Given the description of an element on the screen output the (x, y) to click on. 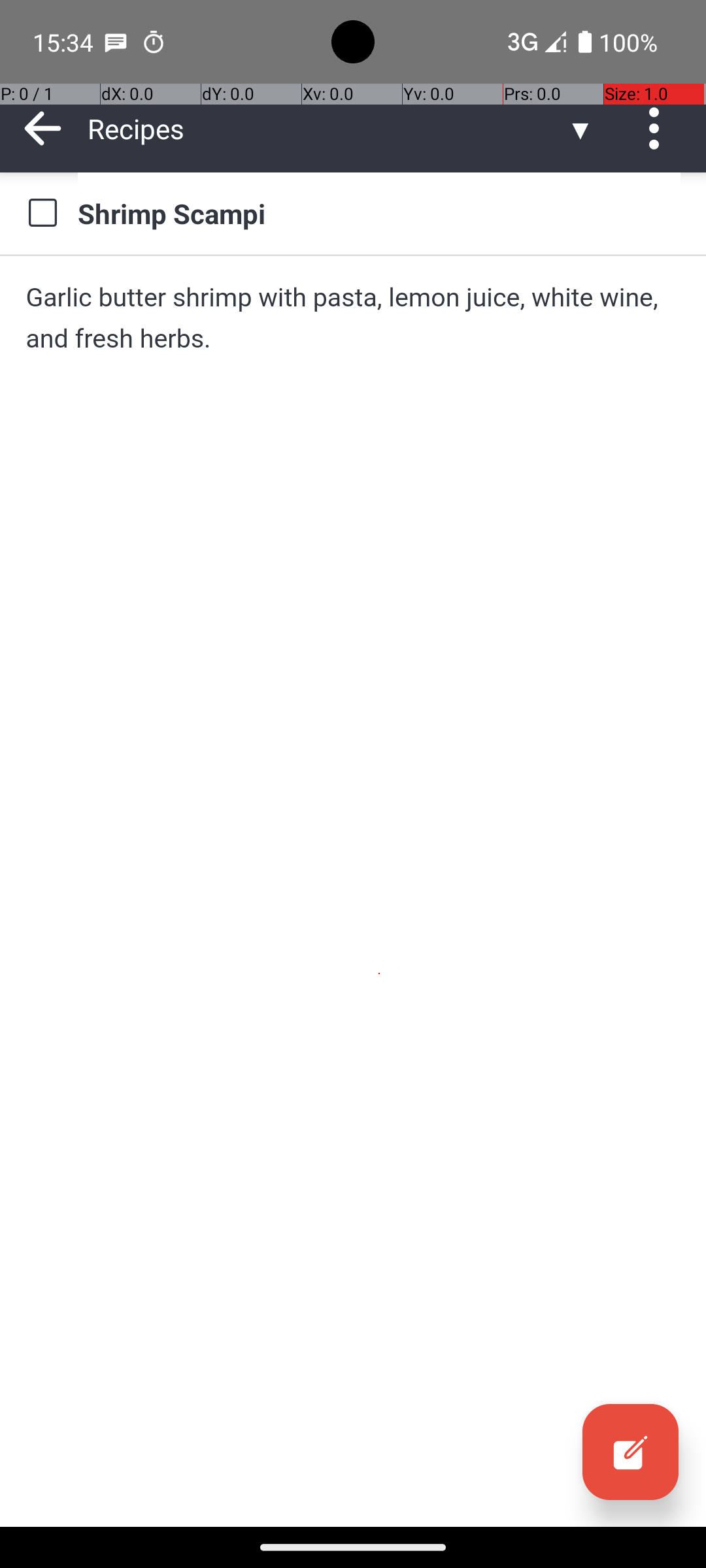
Shrimp Scampi Element type: android.widget.EditText (378, 213)
Garlic butter shrimp with pasta, lemon juice, white wine, and fresh herbs. Element type: android.widget.TextView (352, 317)
